Given the description of an element on the screen output the (x, y) to click on. 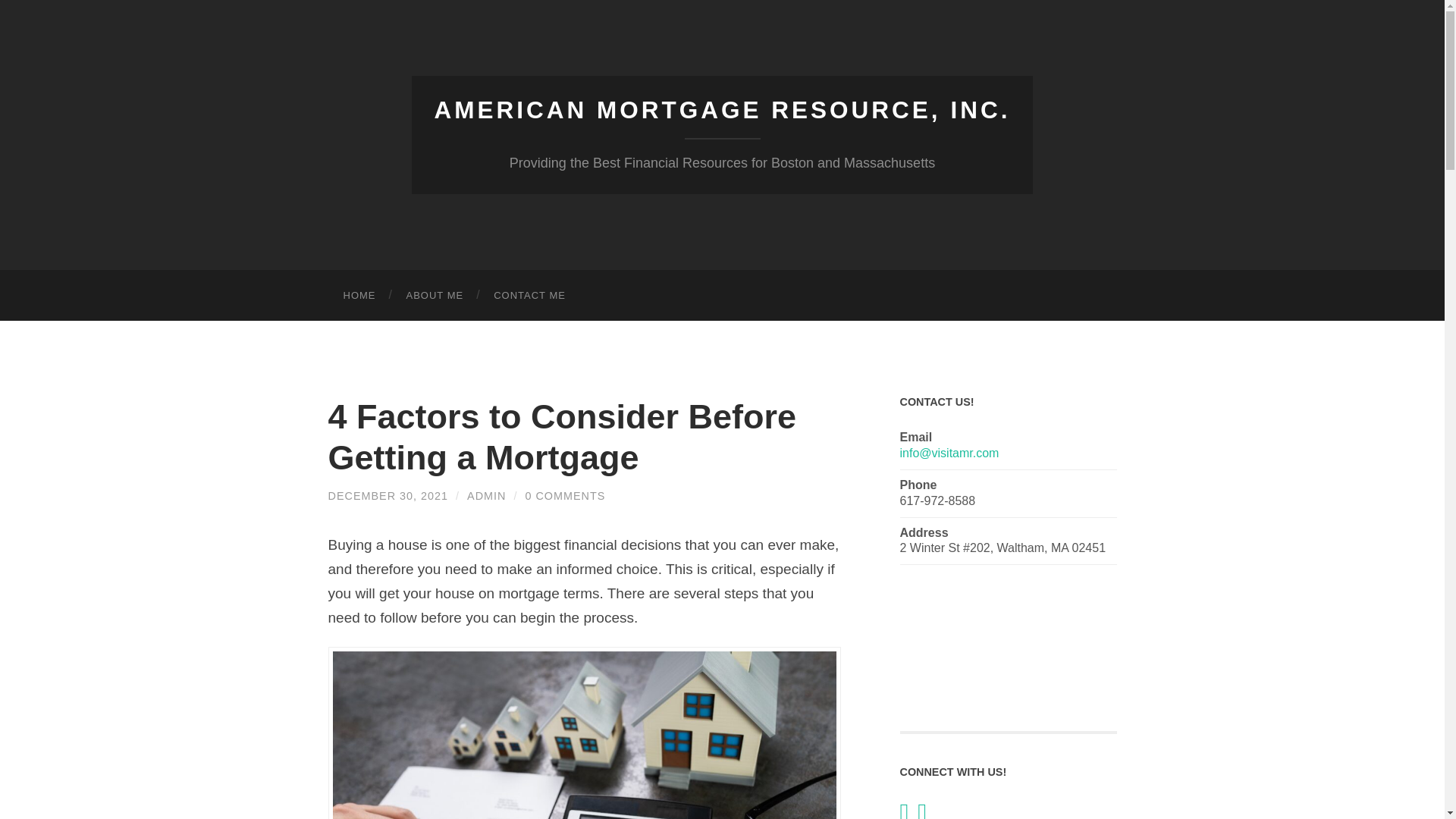
ADMIN (486, 495)
Visit American Mortgage Resource, Inc. on Facebook (921, 814)
0 COMMENTS (564, 495)
ABOUT ME (435, 295)
4 Factors to Consider Before Getting a Mortgage (561, 436)
DECEMBER 30, 2021 (387, 495)
AMERICAN MORTGAGE RESOURCE, INC. (721, 109)
CONTACT ME (529, 295)
Visit American Mortgage Resource, Inc. on Twitter (903, 814)
HOME (358, 295)
Posts by admin (486, 495)
